Given the description of an element on the screen output the (x, y) to click on. 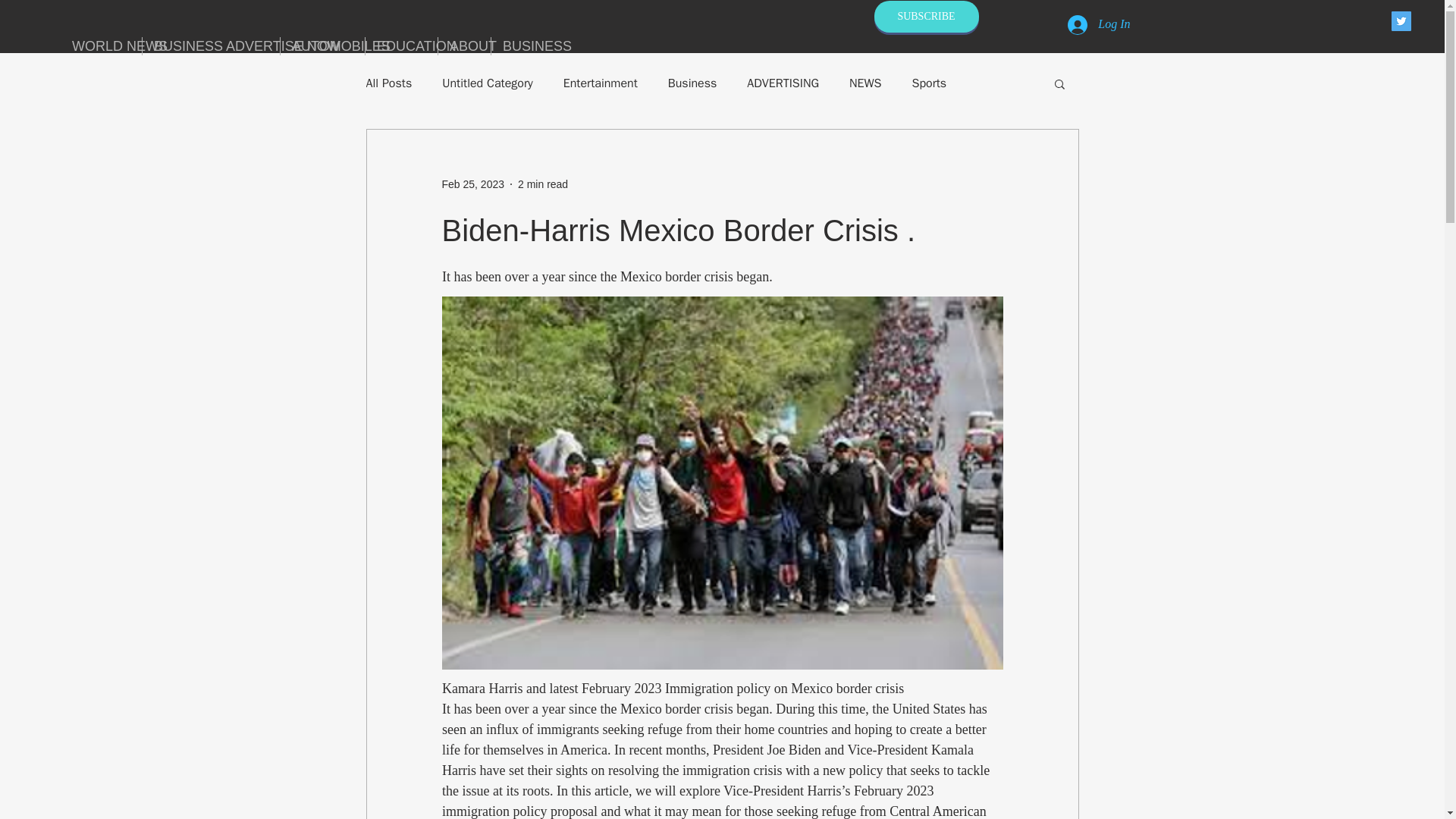
Sports (928, 83)
Entertainment (600, 83)
2 min read (542, 183)
SUBSCRIBE (925, 16)
ABOUT (464, 45)
NEWS (865, 83)
Untitled Category (487, 83)
All Posts (388, 83)
Business (692, 83)
EDUCATION (401, 45)
Feb 25, 2023 (472, 183)
BUSINESS (524, 45)
WORLD NEWS (101, 45)
BUSINESS ADVERTISE NOW (210, 45)
ADVERTISING (782, 83)
